Given the description of an element on the screen output the (x, y) to click on. 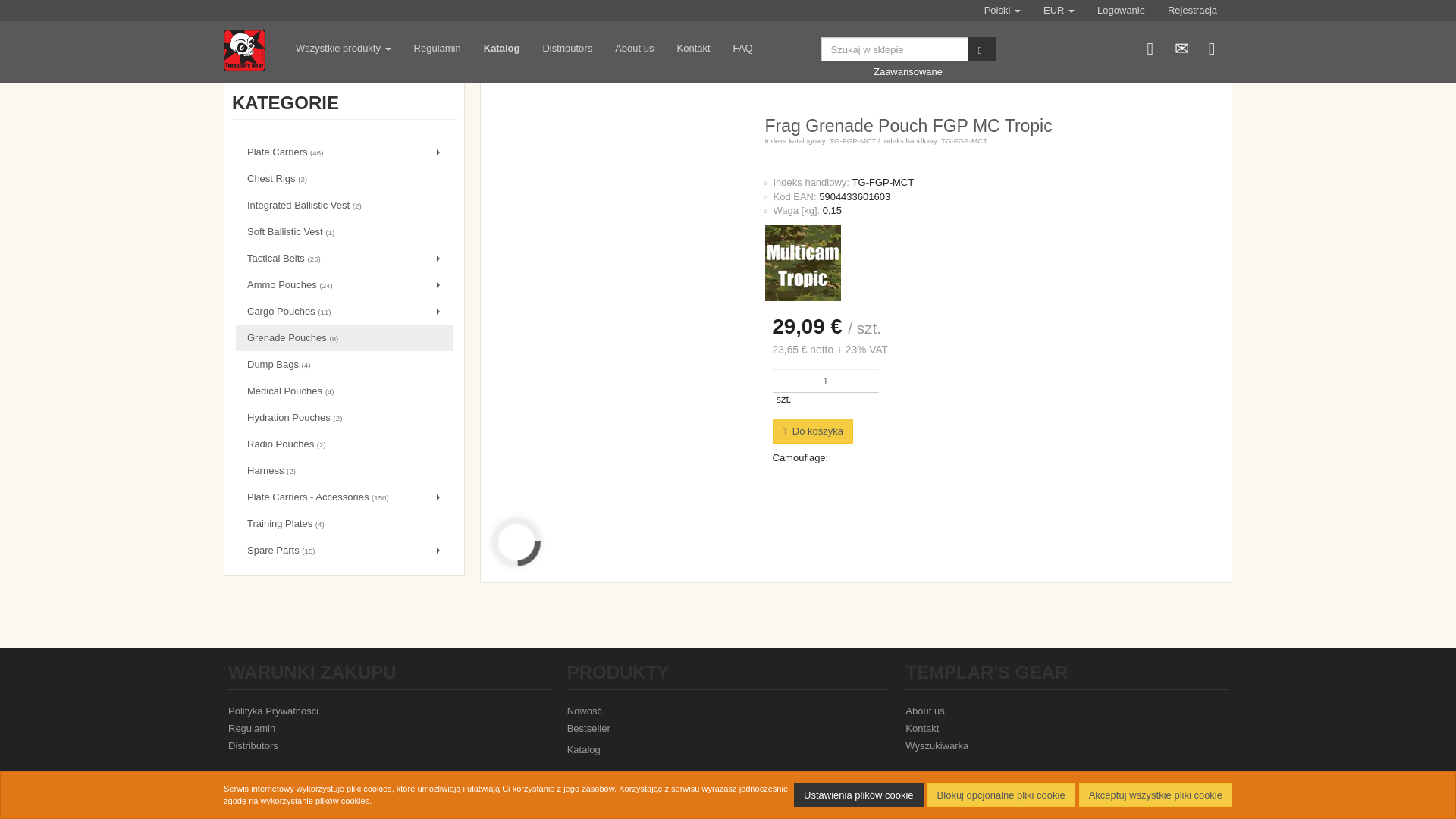
Distributors (567, 48)
Szukaj (981, 48)
About us (634, 48)
1 (824, 380)
Koszyk (1211, 45)
Logowanie (1121, 10)
Kontakt (693, 48)
Wszystkie produkty (343, 48)
Zaawansowane (907, 71)
Zaawansowane (907, 71)
Polski (1002, 10)
EUR (1059, 10)
Logowanie (1149, 45)
FAQ (743, 48)
Rejestracja (1192, 10)
